Given the description of an element on the screen output the (x, y) to click on. 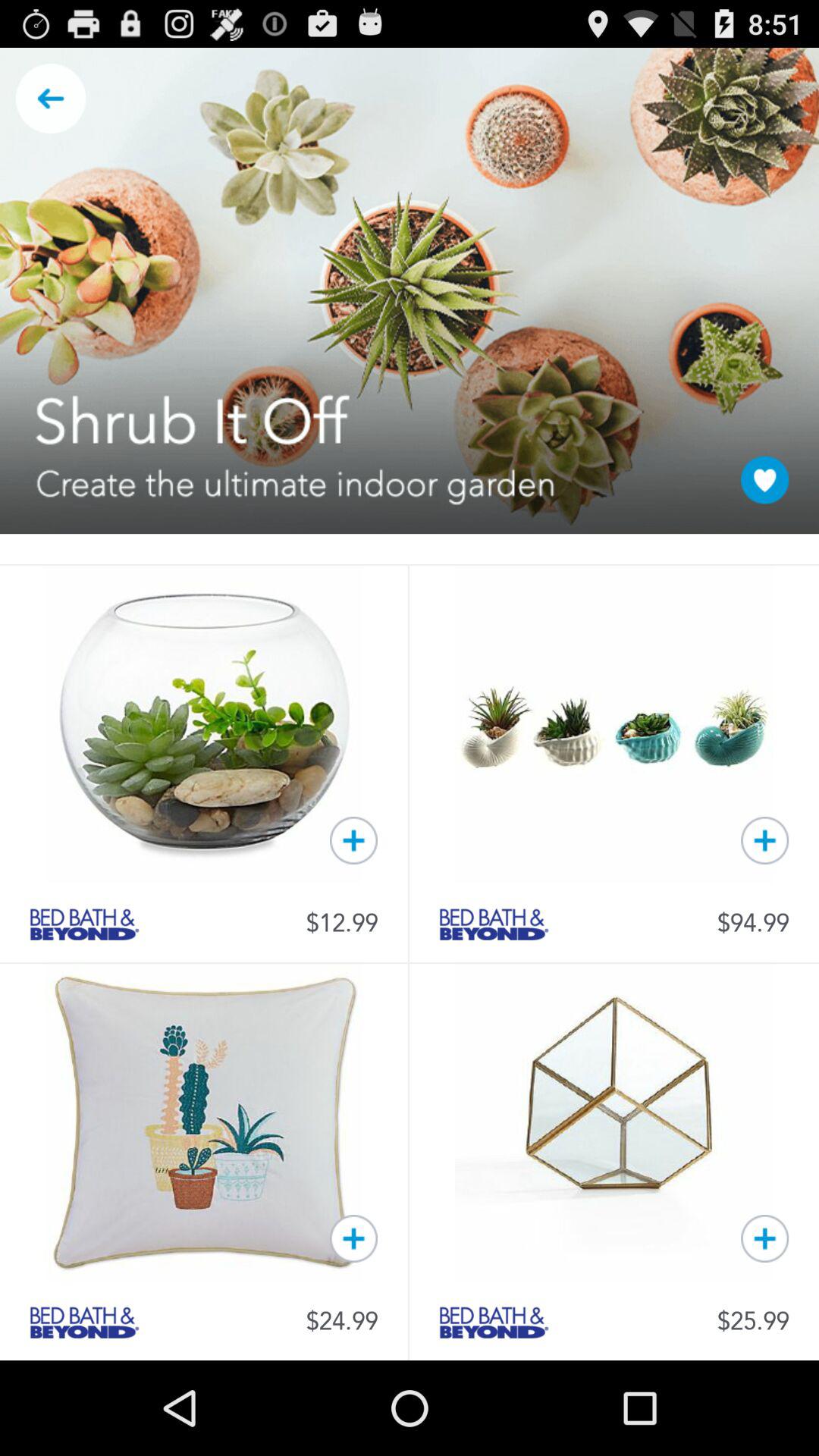
select website link (493, 1322)
